Given the description of an element on the screen output the (x, y) to click on. 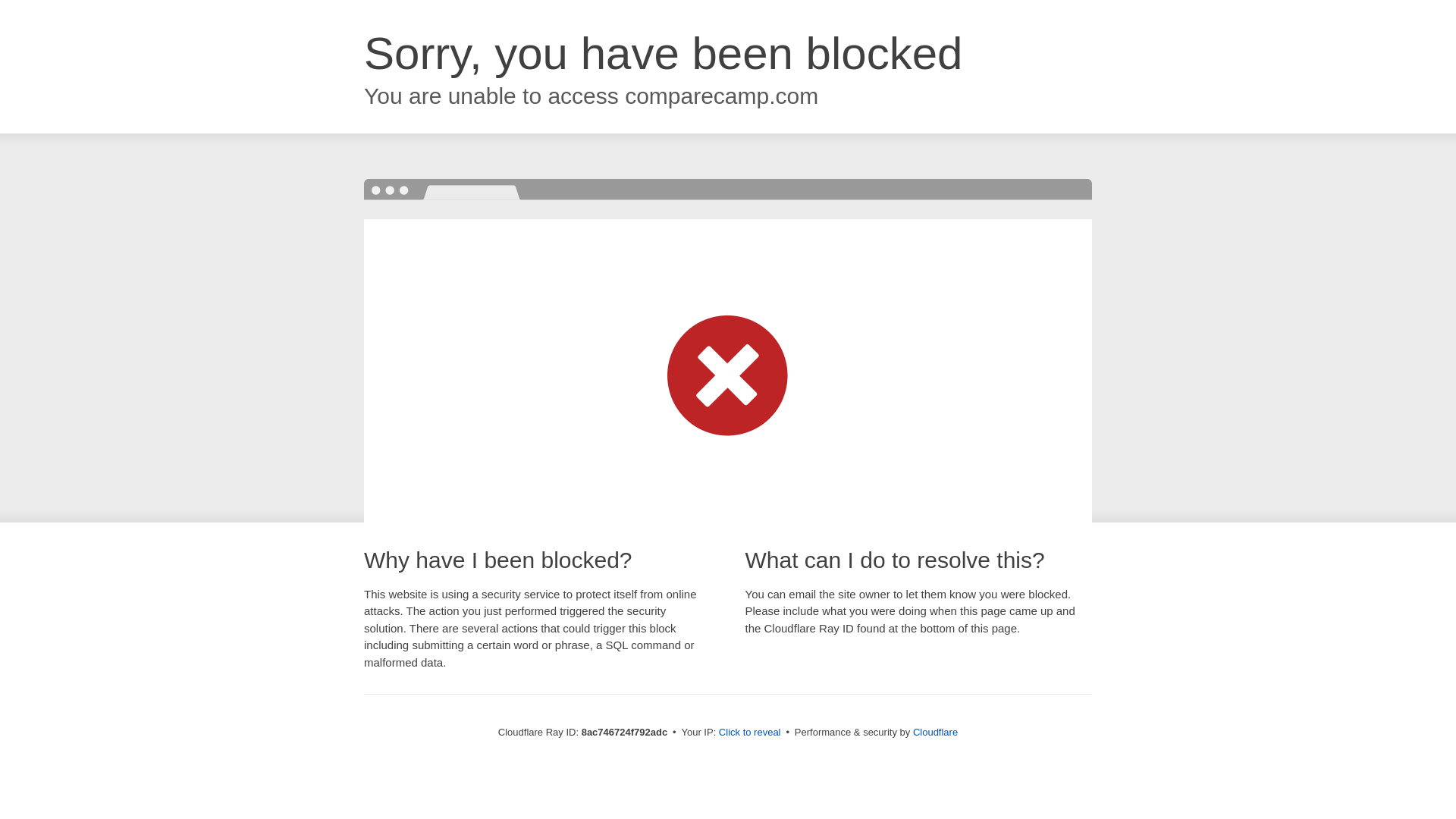
Click to reveal (749, 732)
Cloudflare (935, 731)
